Given the description of an element on the screen output the (x, y) to click on. 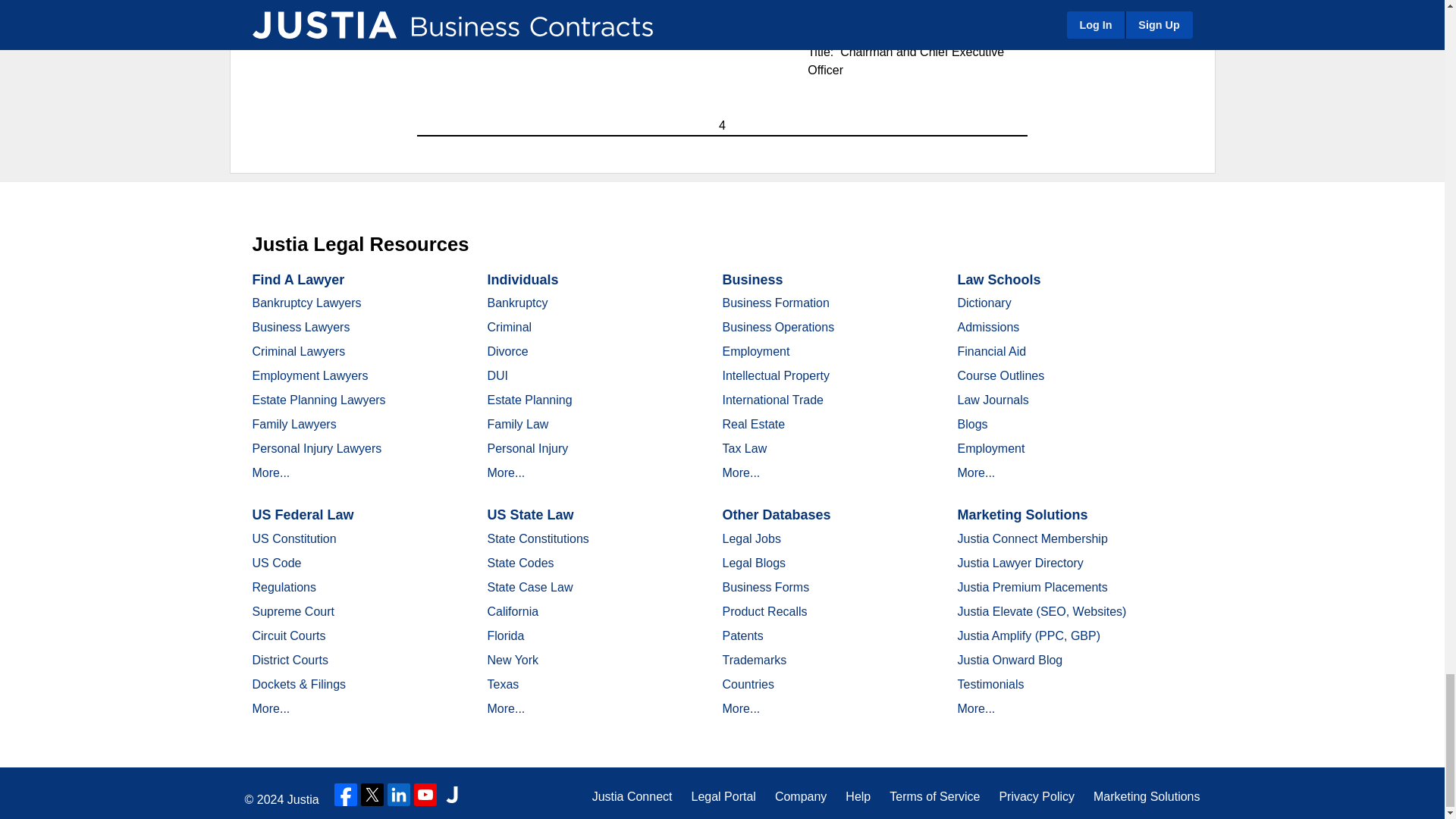
Criminal Lawyers (298, 350)
Justia Lawyer Directory (452, 793)
Family Lawyers (293, 423)
Facebook (345, 793)
Find A Lawyer (297, 279)
Personal Injury Lawyers (316, 448)
Business Lawyers (300, 327)
Estate Planning Lawyers (318, 399)
Employment Lawyers (309, 375)
Bankruptcy Lawyers (306, 302)
Twitter (372, 793)
YouTube (424, 793)
LinkedIn (398, 793)
More... (270, 472)
